Given the description of an element on the screen output the (x, y) to click on. 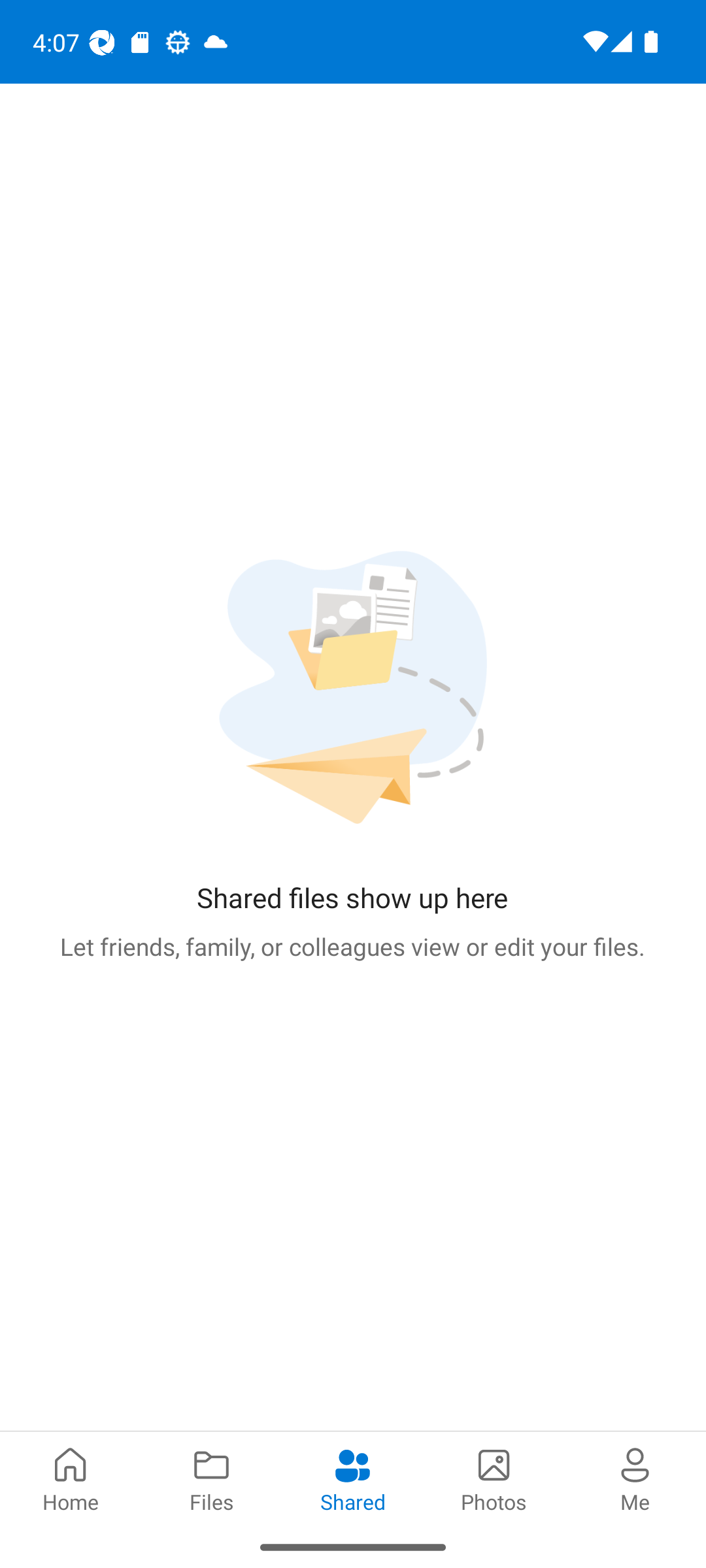
Home pivot Home (70, 1478)
Files pivot Files (211, 1478)
Photos pivot Photos (493, 1478)
Me pivot Me (635, 1478)
